Given the description of an element on the screen output the (x, y) to click on. 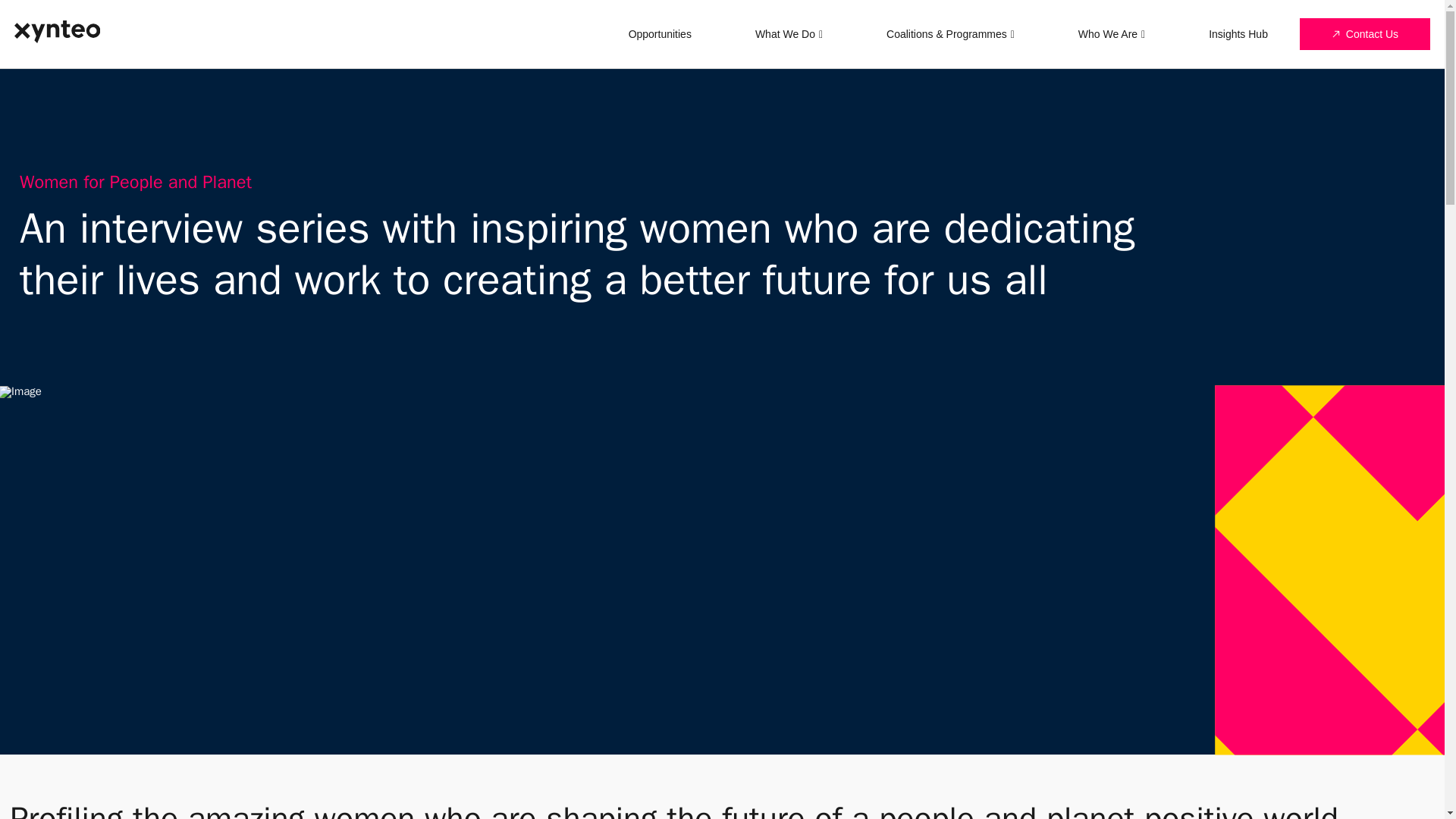
What We Do (788, 34)
Contact Us (1364, 33)
Opportunities (659, 33)
Insights Hub (1238, 33)
Who We Are (1111, 34)
